Given the description of an element on the screen output the (x, y) to click on. 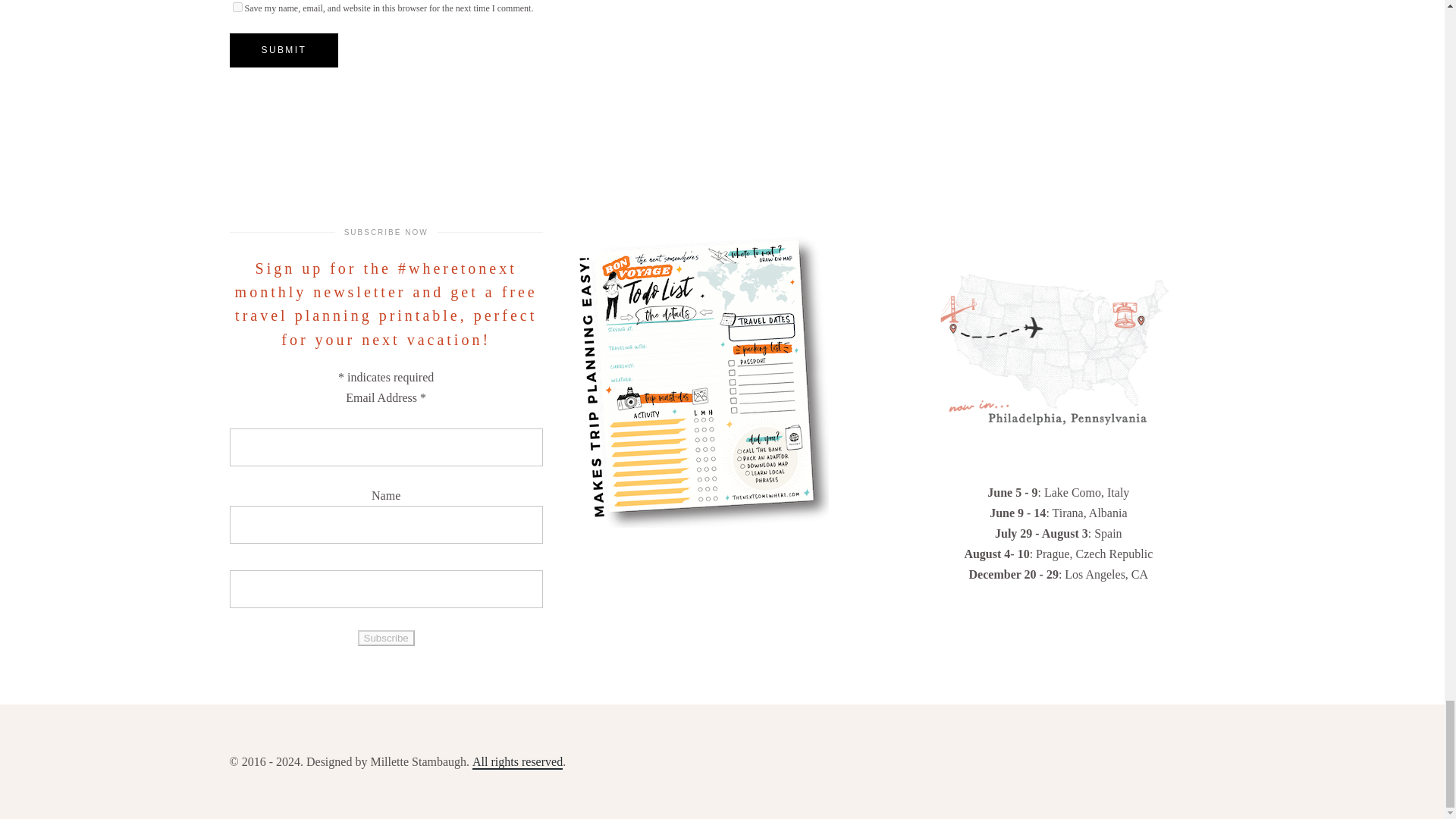
yes (236, 7)
Subscribe (386, 637)
Submit (282, 50)
